Given the description of an element on the screen output the (x, y) to click on. 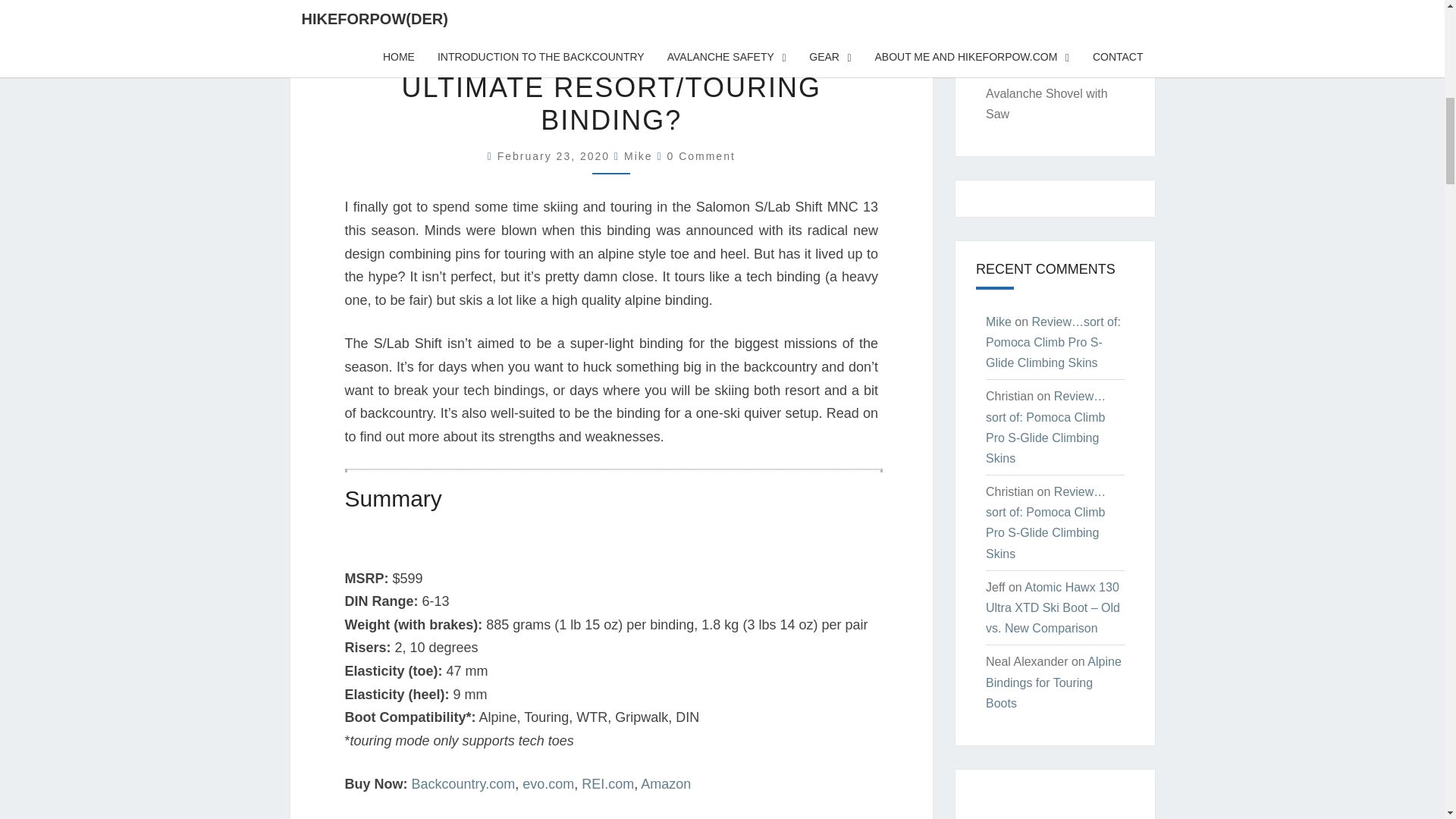
Mike (638, 155)
Backcountry.com (463, 783)
View all posts by Mike (638, 155)
0 Comment (700, 155)
February 23, 2020 (555, 155)
3:13 pm (555, 155)
Amazon (665, 783)
REI.com (606, 783)
evo.com (547, 783)
